Given the description of an element on the screen output the (x, y) to click on. 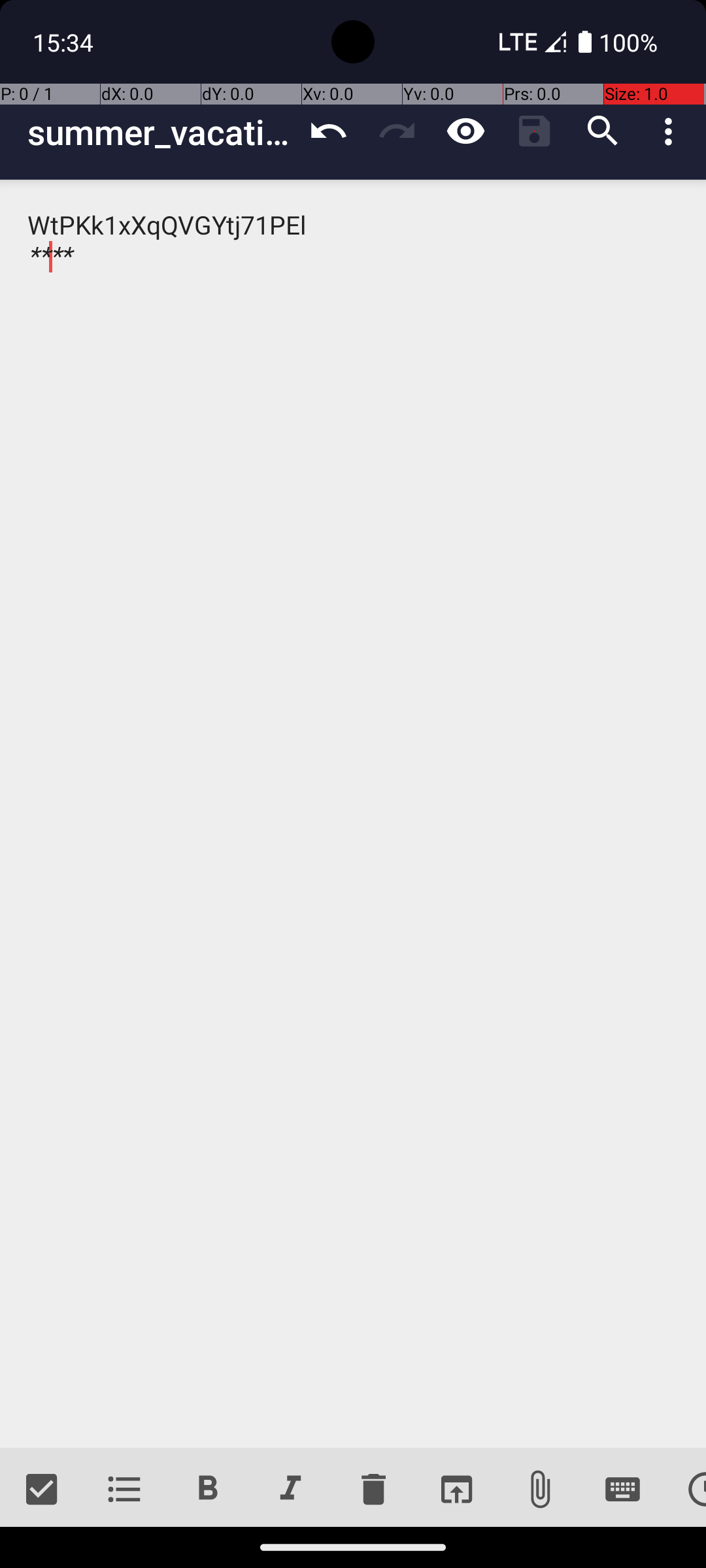
summer_vacation_plans_ZDk8 Element type: android.widget.TextView (160, 131)
WtPKk1xXqQVGYtj71PEl
**** Element type: android.widget.EditText (353, 813)
